Given the description of an element on the screen output the (x, y) to click on. 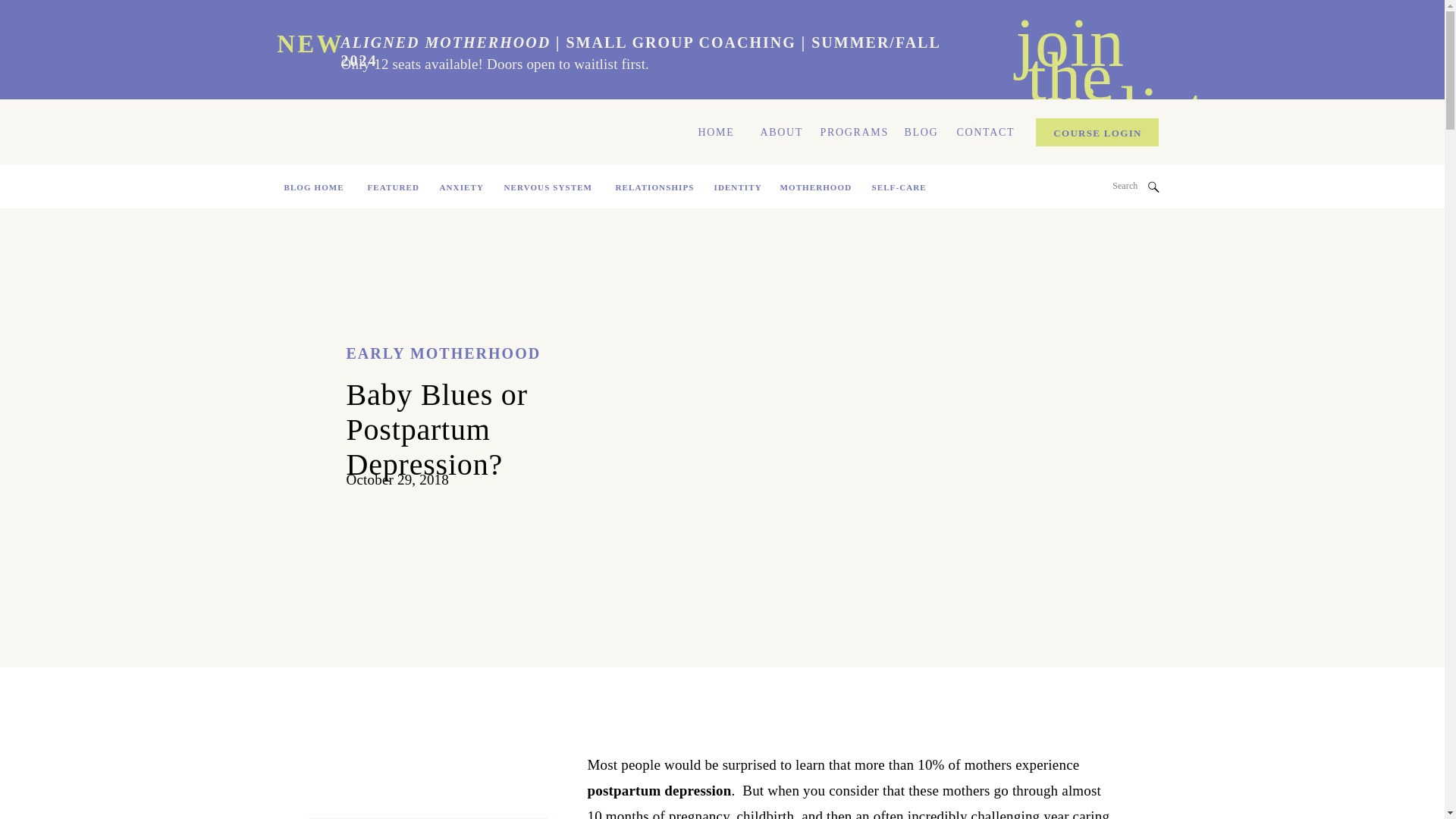
MOTHERHOOD (814, 191)
NERVOUS SYSTEM (548, 191)
join the waitlist (1069, 64)
CONTACT (981, 131)
COURSE LOGIN (1098, 133)
BLOG HOME (314, 191)
BLOG (920, 131)
PROGRAMS (853, 131)
ANXIETY (461, 188)
RELATIONSHIPS (654, 191)
ABOUT (778, 131)
HOME (713, 131)
EARLY MOTHERHOOD (443, 352)
FEATURED (391, 186)
